Given the description of an element on the screen output the (x, y) to click on. 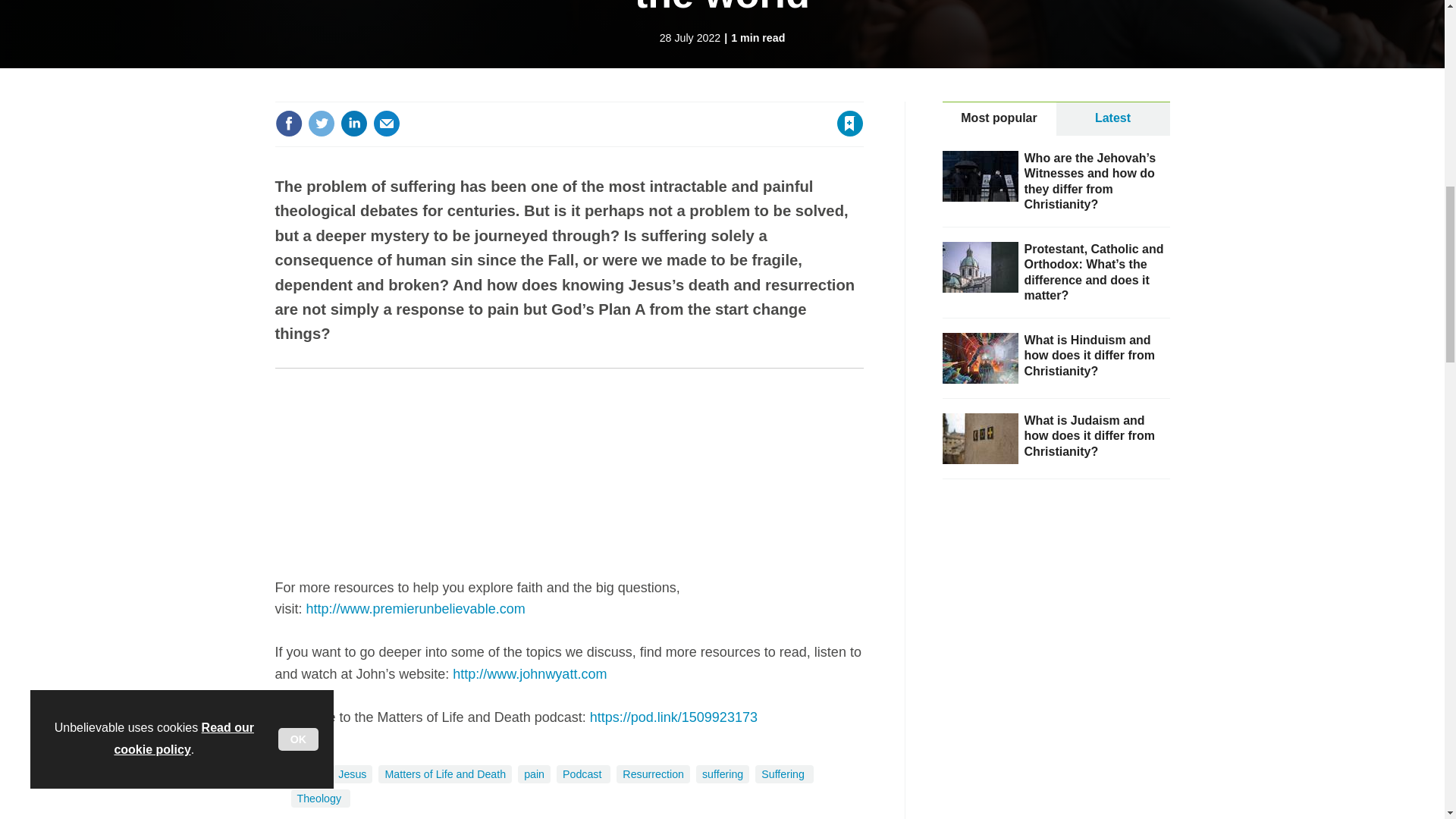
Share this on Linked in (352, 123)
3rd party ad content (1055, 610)
Email this article (386, 123)
Share this on Facebook (288, 123)
Share this on Twitter (320, 123)
